Given the description of an element on the screen output the (x, y) to click on. 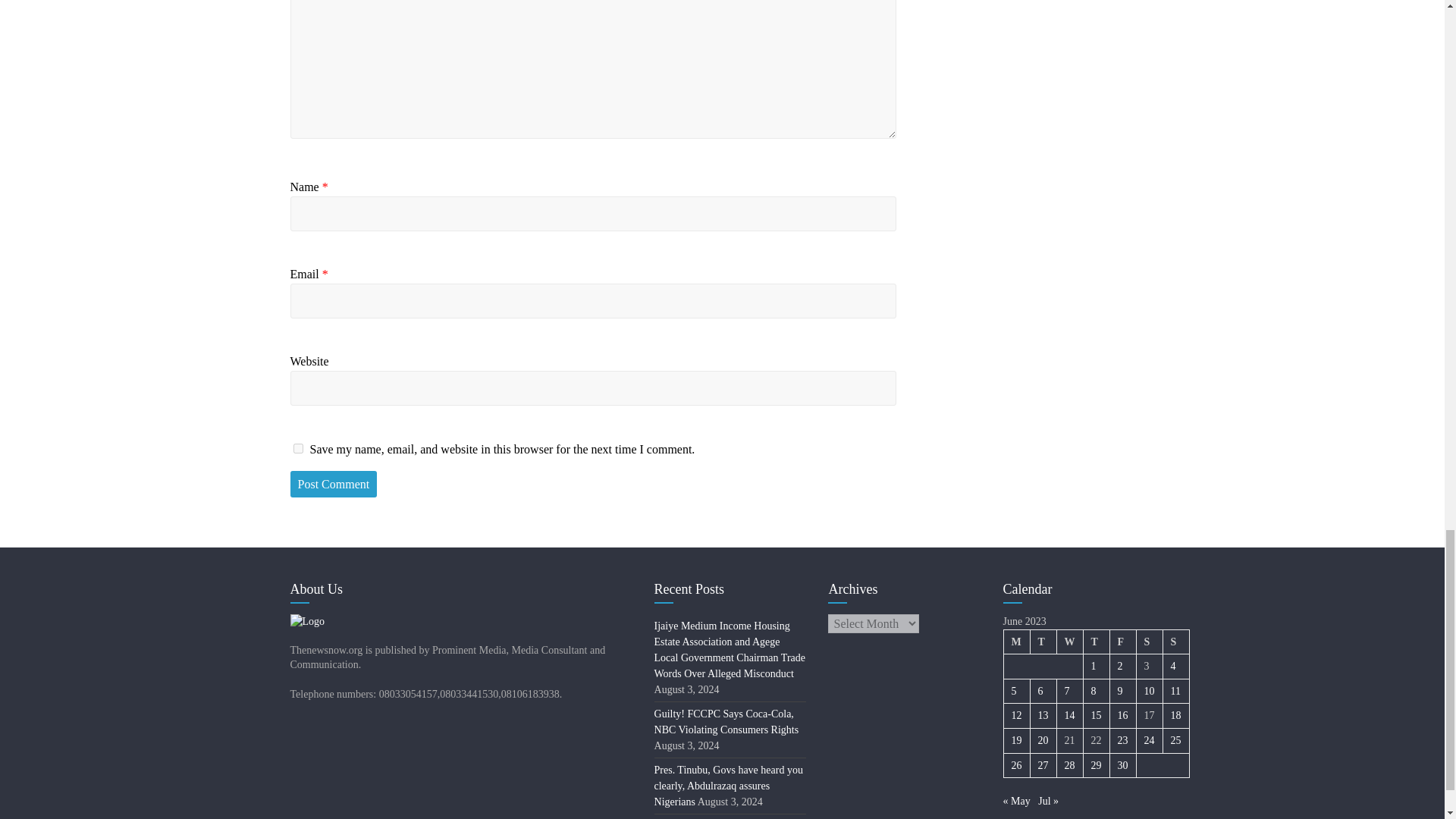
Post Comment (333, 483)
yes (297, 448)
